Given the description of an element on the screen output the (x, y) to click on. 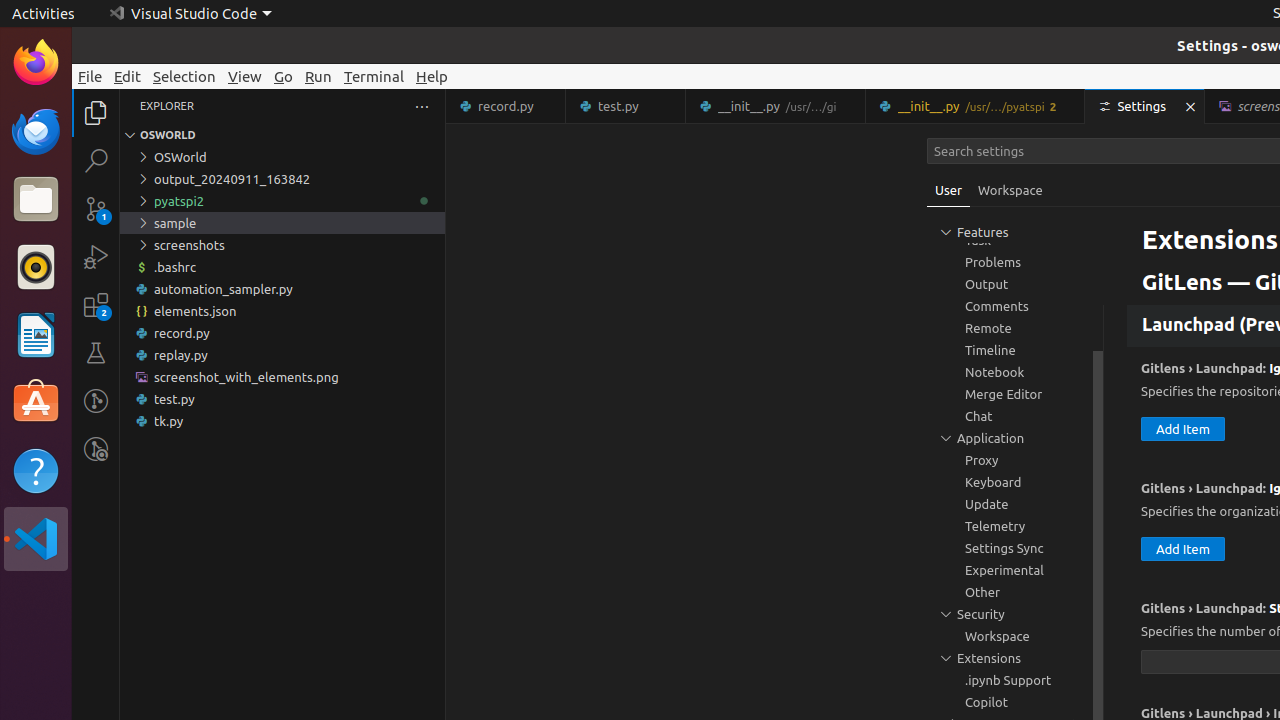
test.py Element type: tree-item (282, 399)
OSWorld Element type: tree-item (282, 157)
tk.py Element type: tree-item (282, 421)
Remote, group Element type: tree-item (1015, 328)
